Given the description of an element on the screen output the (x, y) to click on. 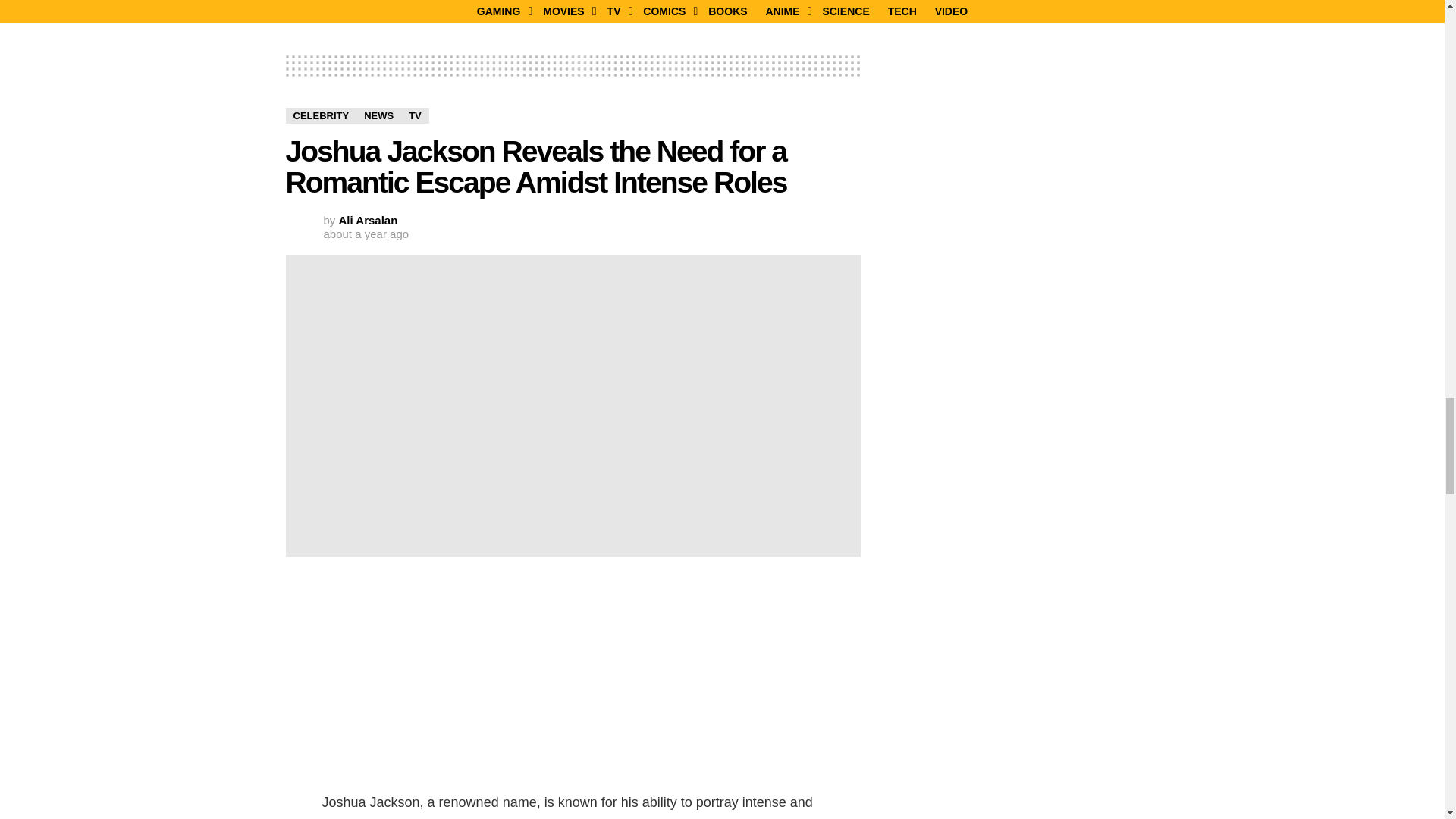
June 24, 2023, 2:53 am (366, 233)
Posts by Ali Arsalan (368, 219)
